Given the description of an element on the screen output the (x, y) to click on. 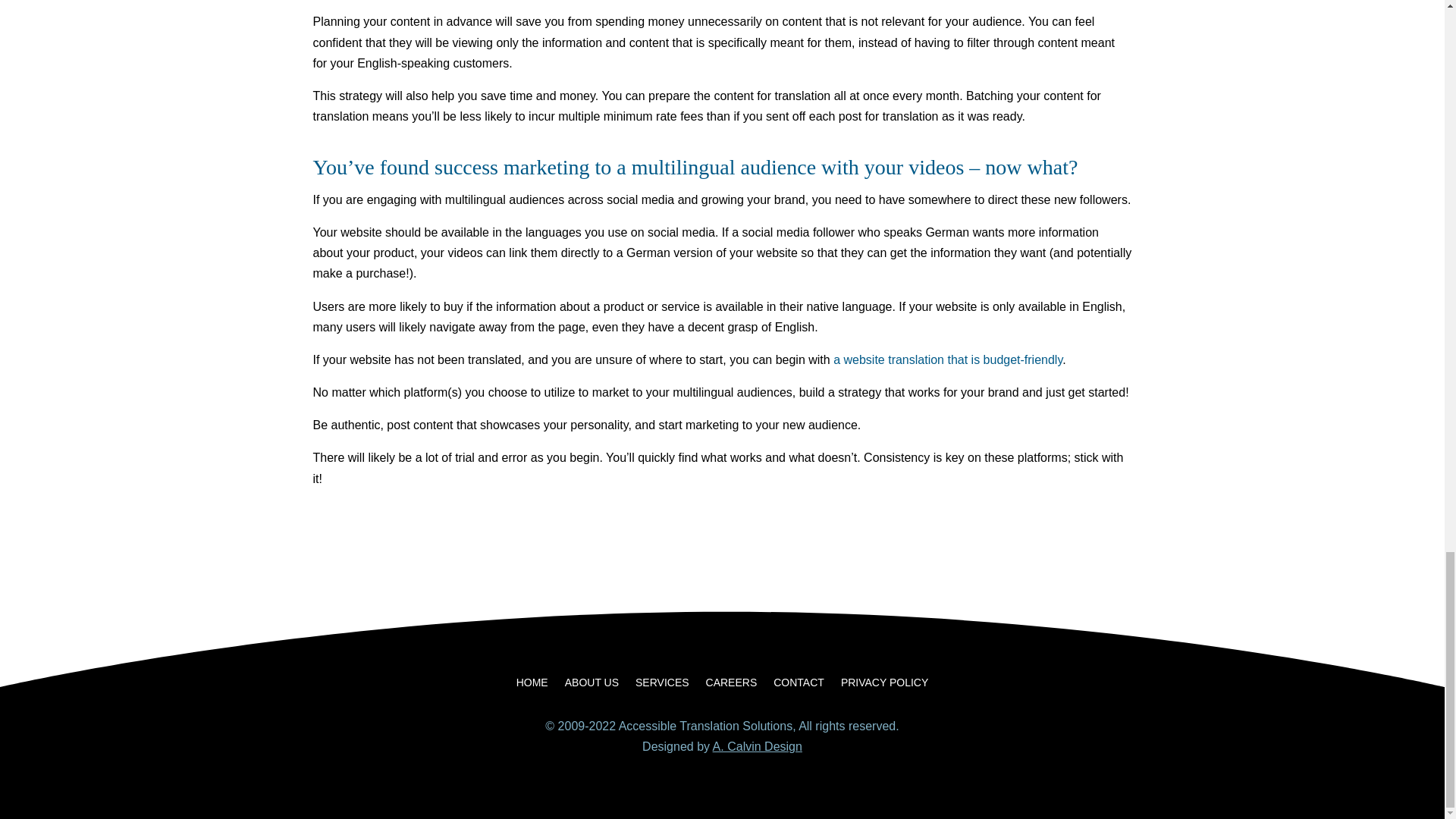
HOME (532, 685)
a website translation that is budget-friendly (947, 359)
CAREERS (731, 685)
ABOUT US (591, 685)
SERVICES (661, 685)
CONTACT (798, 685)
